Given the description of an element on the screen output the (x, y) to click on. 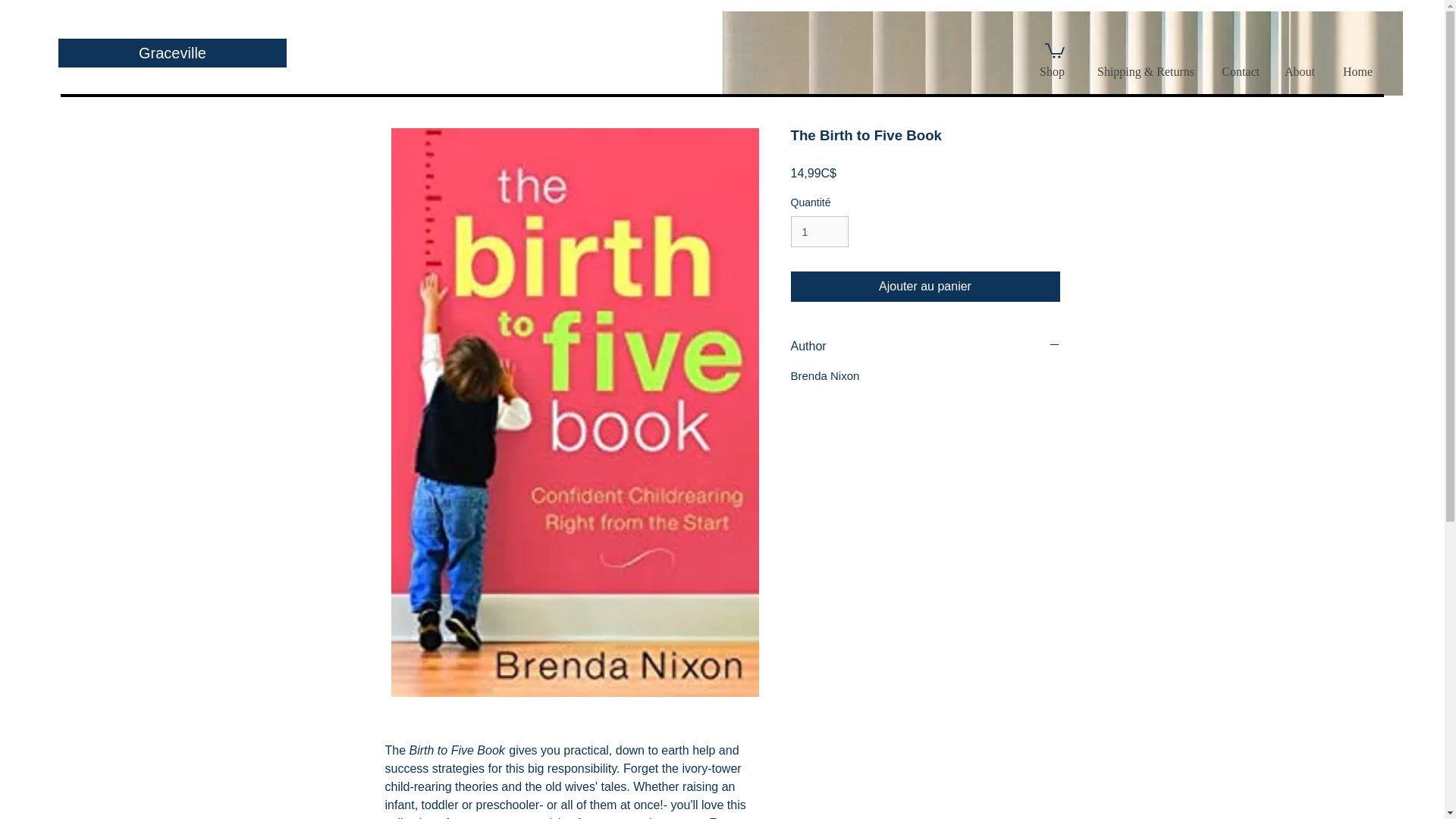
1 (818, 231)
Ajouter au panier (924, 286)
Shop (1050, 71)
Graceville (172, 52)
Home (1355, 71)
Author (924, 346)
About (1298, 71)
Contact (1238, 71)
